Given the description of an element on the screen output the (x, y) to click on. 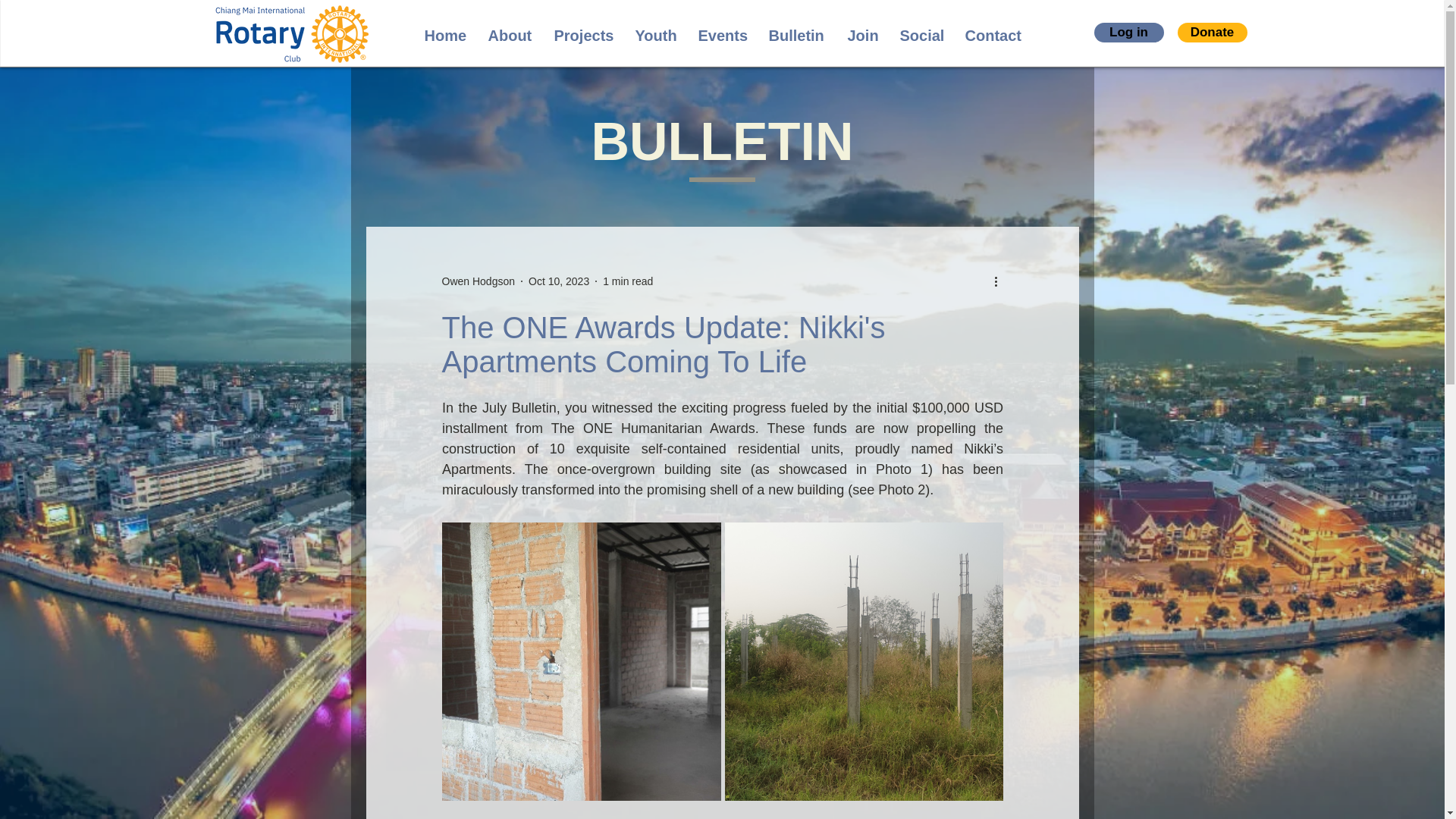
Home (444, 33)
Projects (583, 33)
Youth (654, 33)
Bulletin (796, 33)
1 min read (627, 280)
Events (722, 33)
Owen Hodgson (478, 280)
About (508, 33)
Oct 10, 2023 (558, 280)
